Given the description of an element on the screen output the (x, y) to click on. 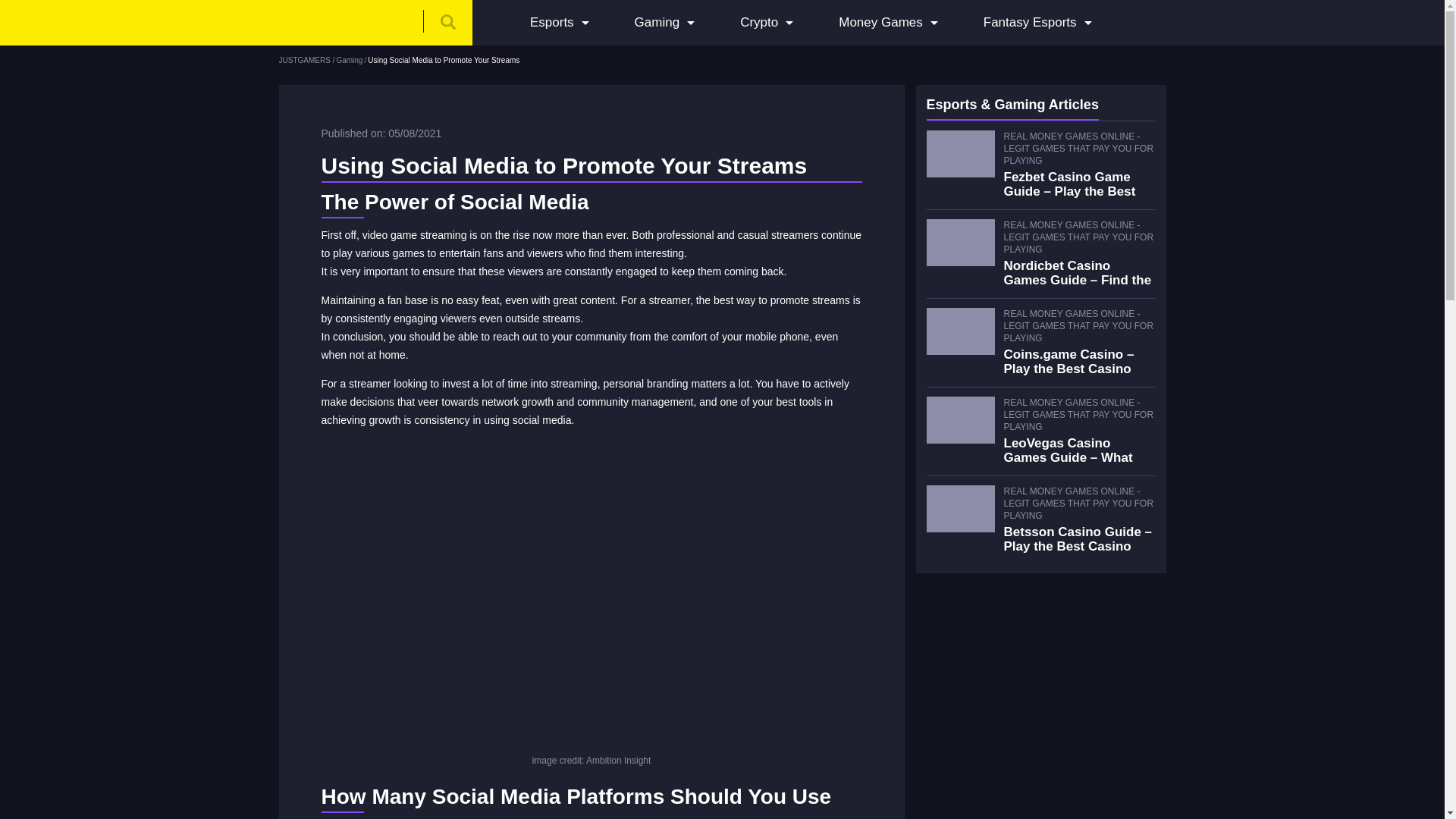
Money Games (880, 22)
Gaming (656, 22)
Esports (551, 22)
